Given the description of an element on the screen output the (x, y) to click on. 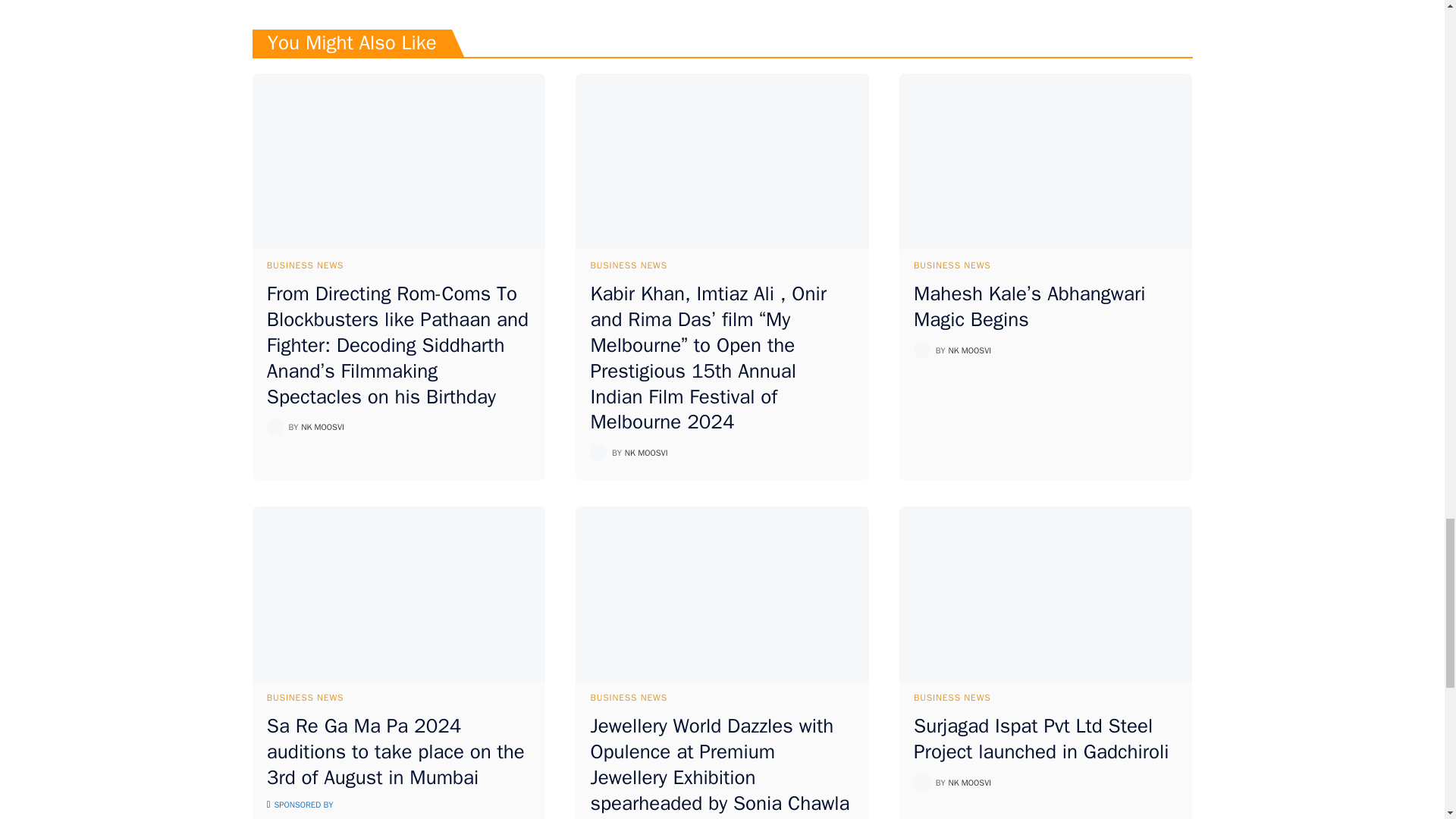
Surjagad Ispat Pvt Ltd Steel Project launched in Gadchiroli (1045, 594)
